Given the description of an element on the screen output the (x, y) to click on. 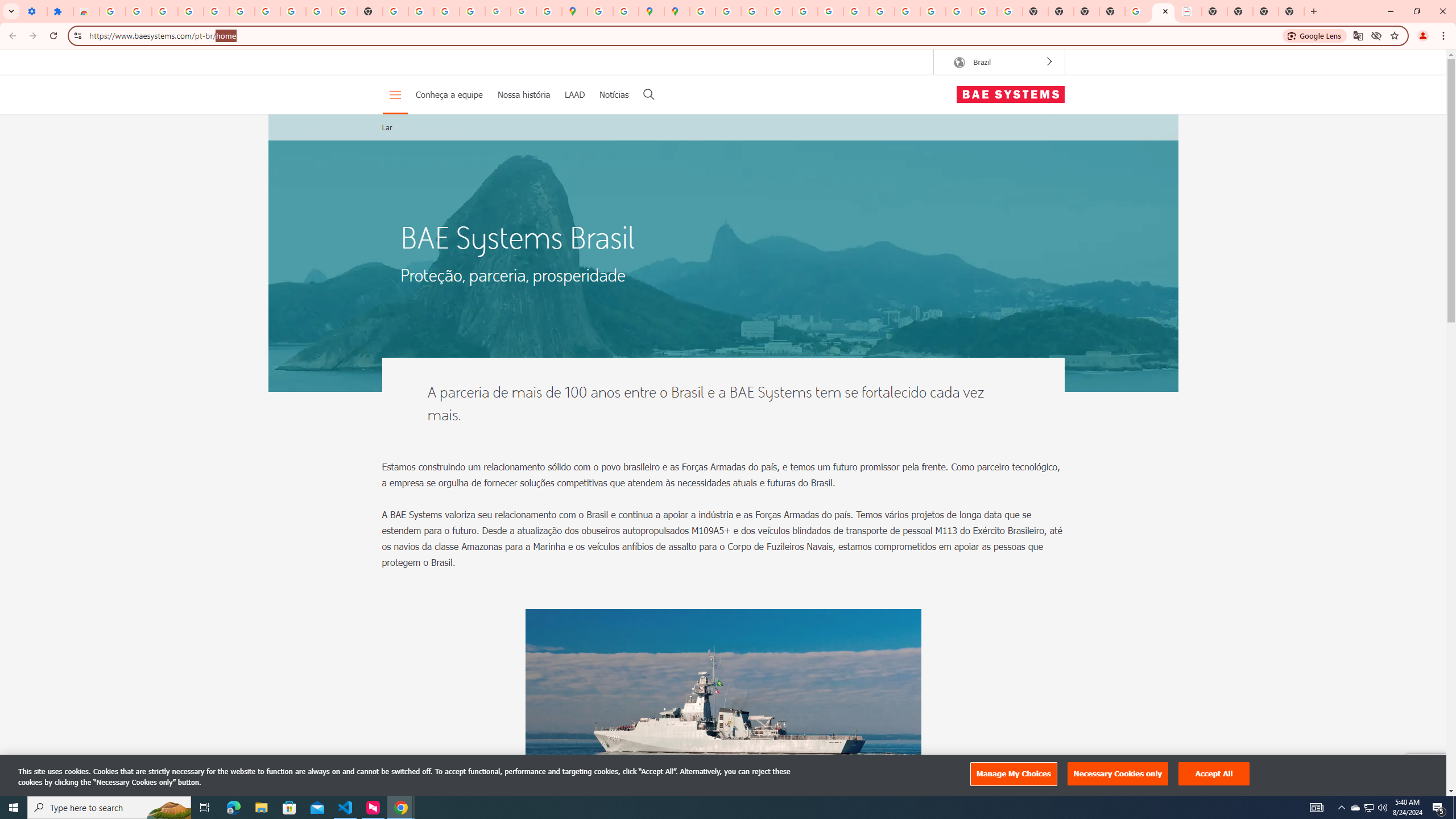
New Tab (1291, 11)
Privacy Help Center - Policies Help (779, 11)
Sign in - Google Accounts (242, 11)
Browse Chrome as a guest - Computer - Google Chrome Help (881, 11)
Google Account (293, 11)
Learn how to find your photos - Google Photos Help (190, 11)
Google Images (1009, 11)
